Given the description of an element on the screen output the (x, y) to click on. 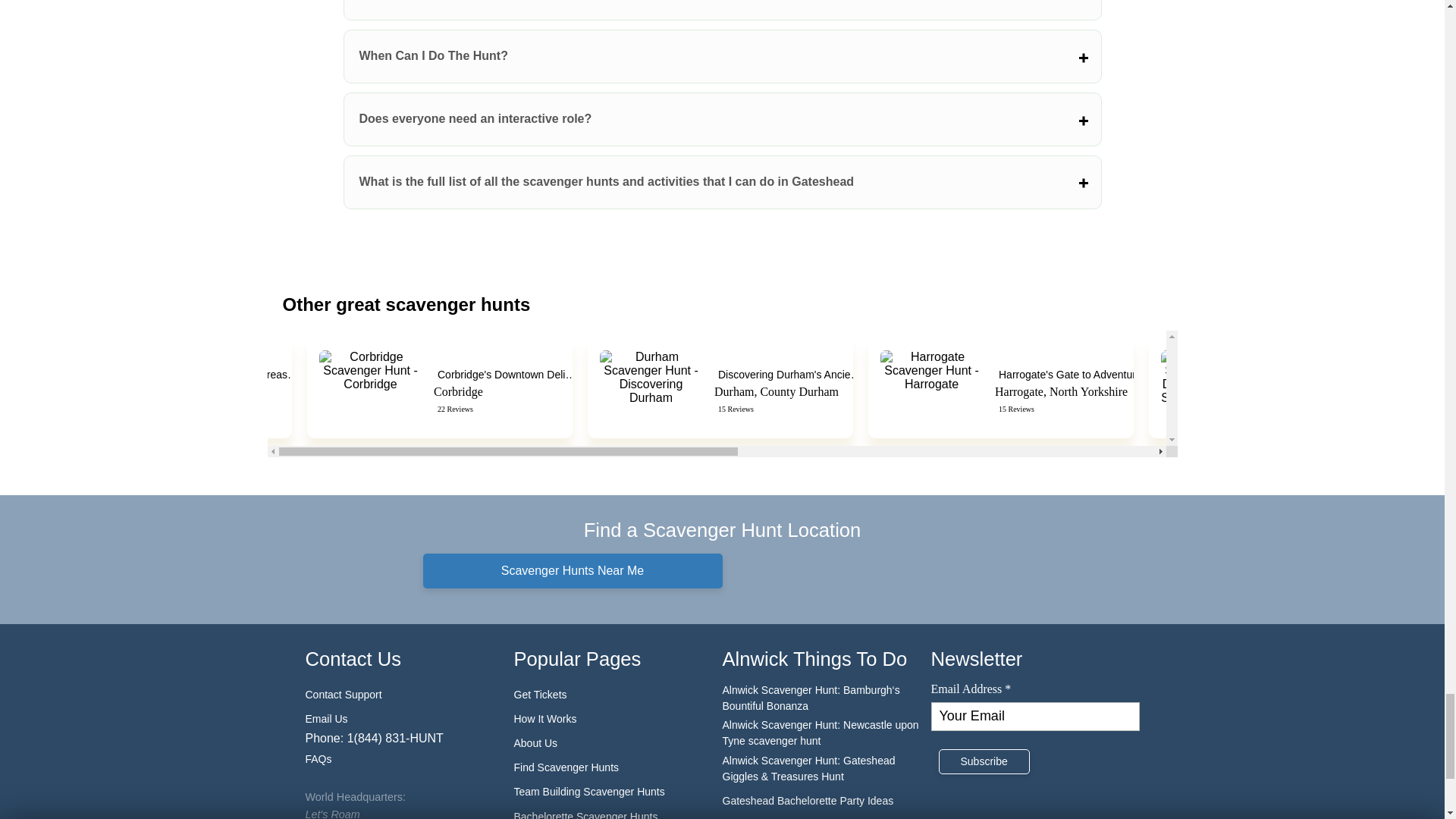
Subscribe (984, 761)
